Given the description of an element on the screen output the (x, y) to click on. 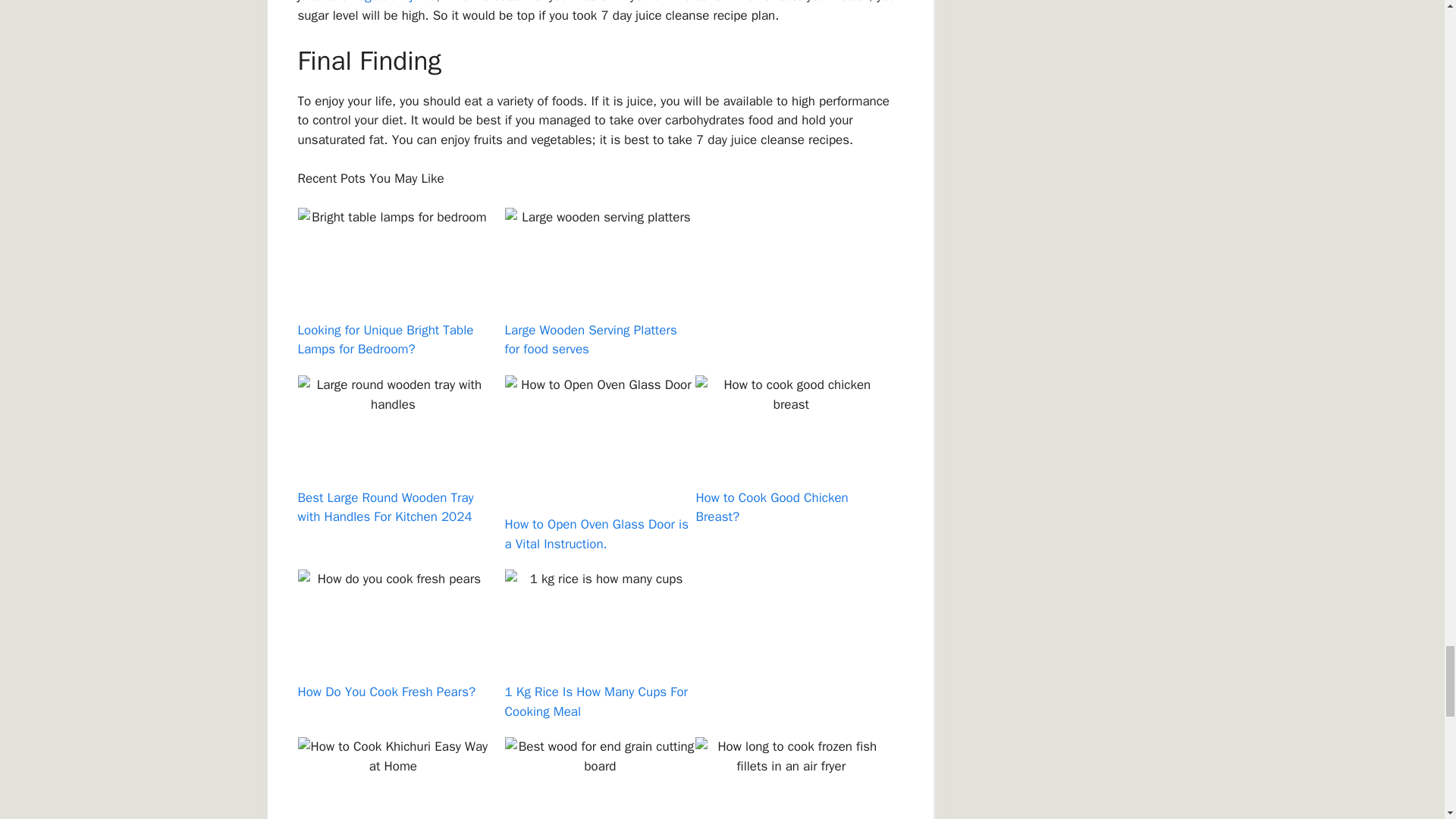
vegetable juice (393, 2)
